Given the description of an element on the screen output the (x, y) to click on. 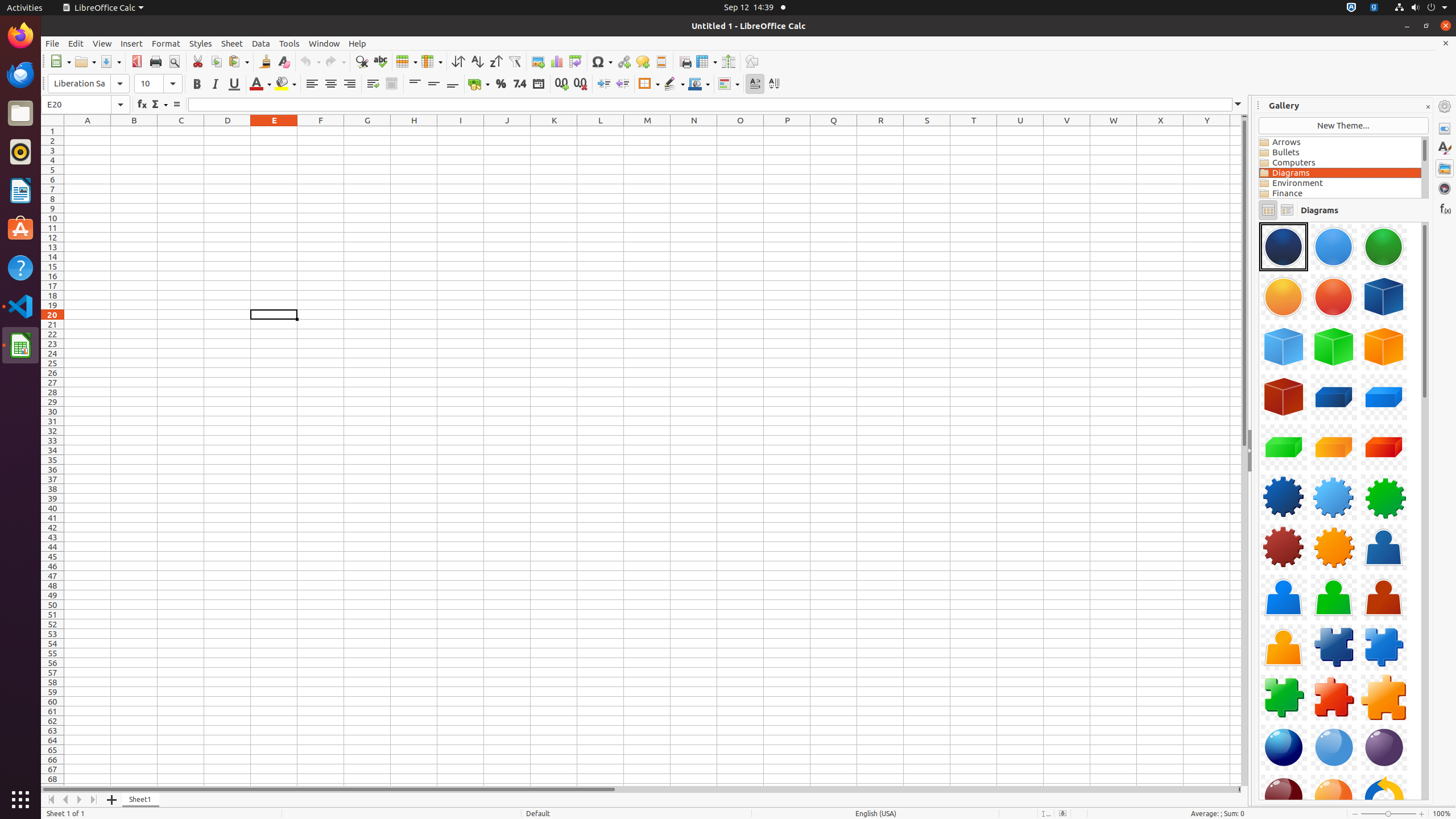
Properties Element type: radio-button (1444, 128)
Files Element type: push-button (20, 113)
Component-Gear02-LightBlue Element type: list-item (1333, 496)
Sheet Sheet1 Element type: table (652, 456)
Horizontal scroll bar Element type: scroll-bar (639, 789)
